Given the description of an element on the screen output the (x, y) to click on. 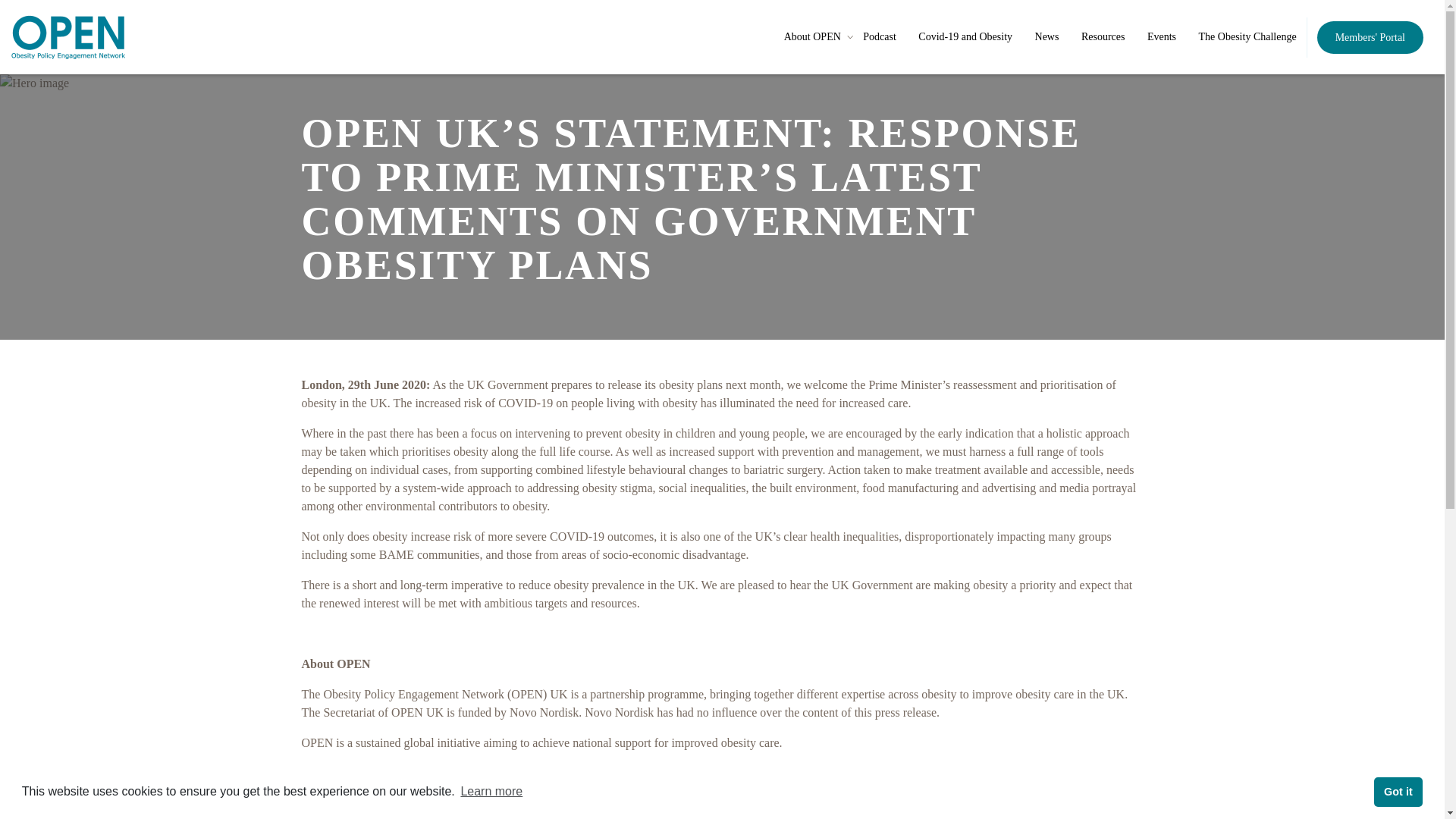
The Obesity Challenge (1247, 36)
Members' Portal (1370, 37)
About OPEN (812, 36)
Podcast (879, 36)
Events (1161, 36)
Covid-19 and Obesity (964, 36)
News (1047, 36)
Resources (1103, 36)
